Given the description of an element on the screen output the (x, y) to click on. 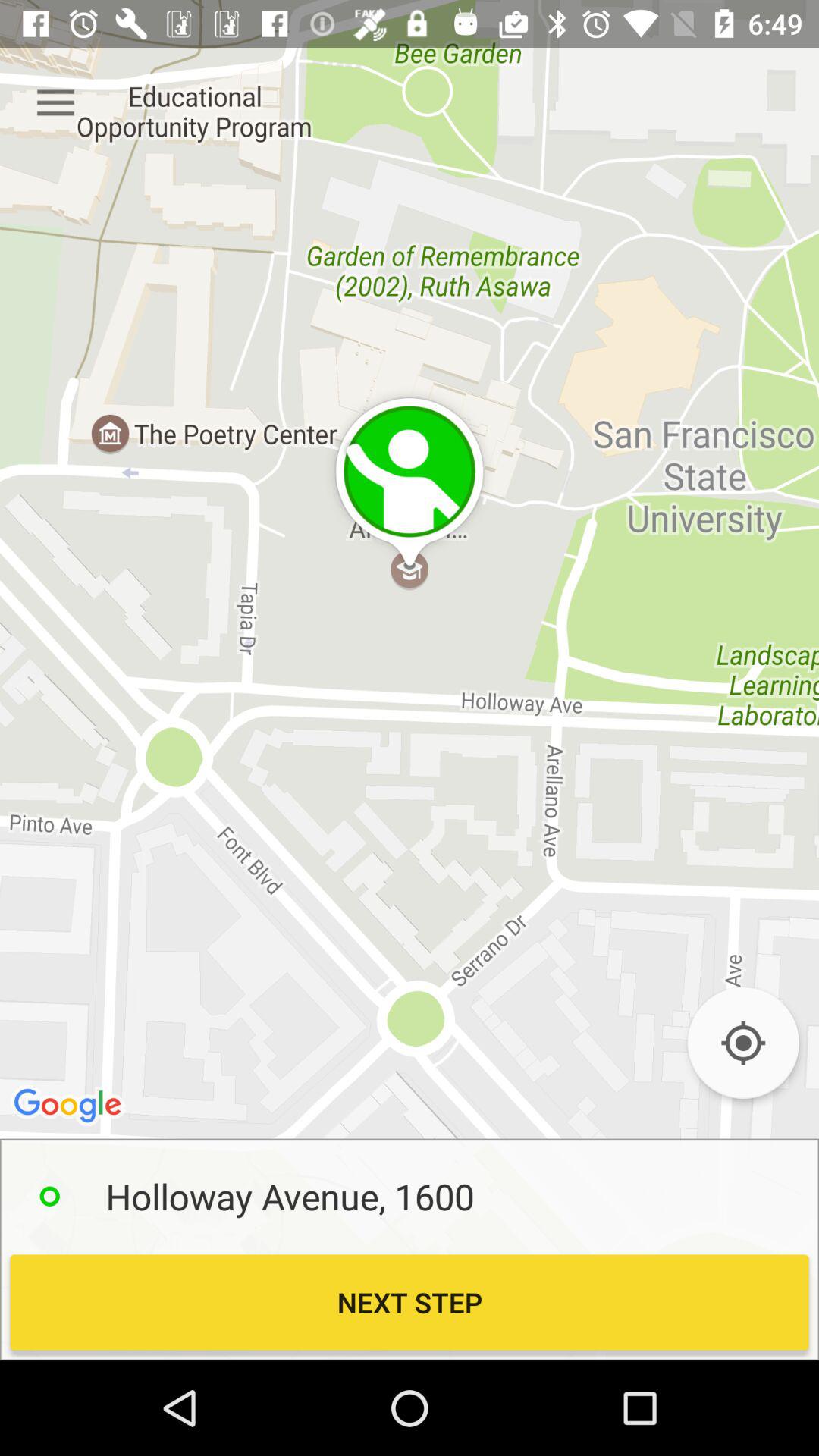
launch item at the top left corner (55, 103)
